Given the description of an element on the screen output the (x, y) to click on. 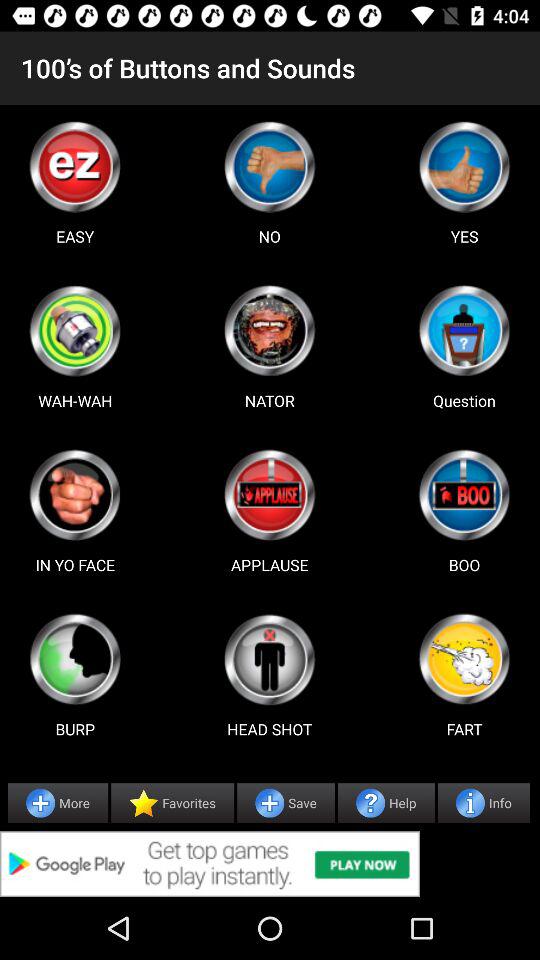
go applause (269, 495)
